Given the description of an element on the screen output the (x, y) to click on. 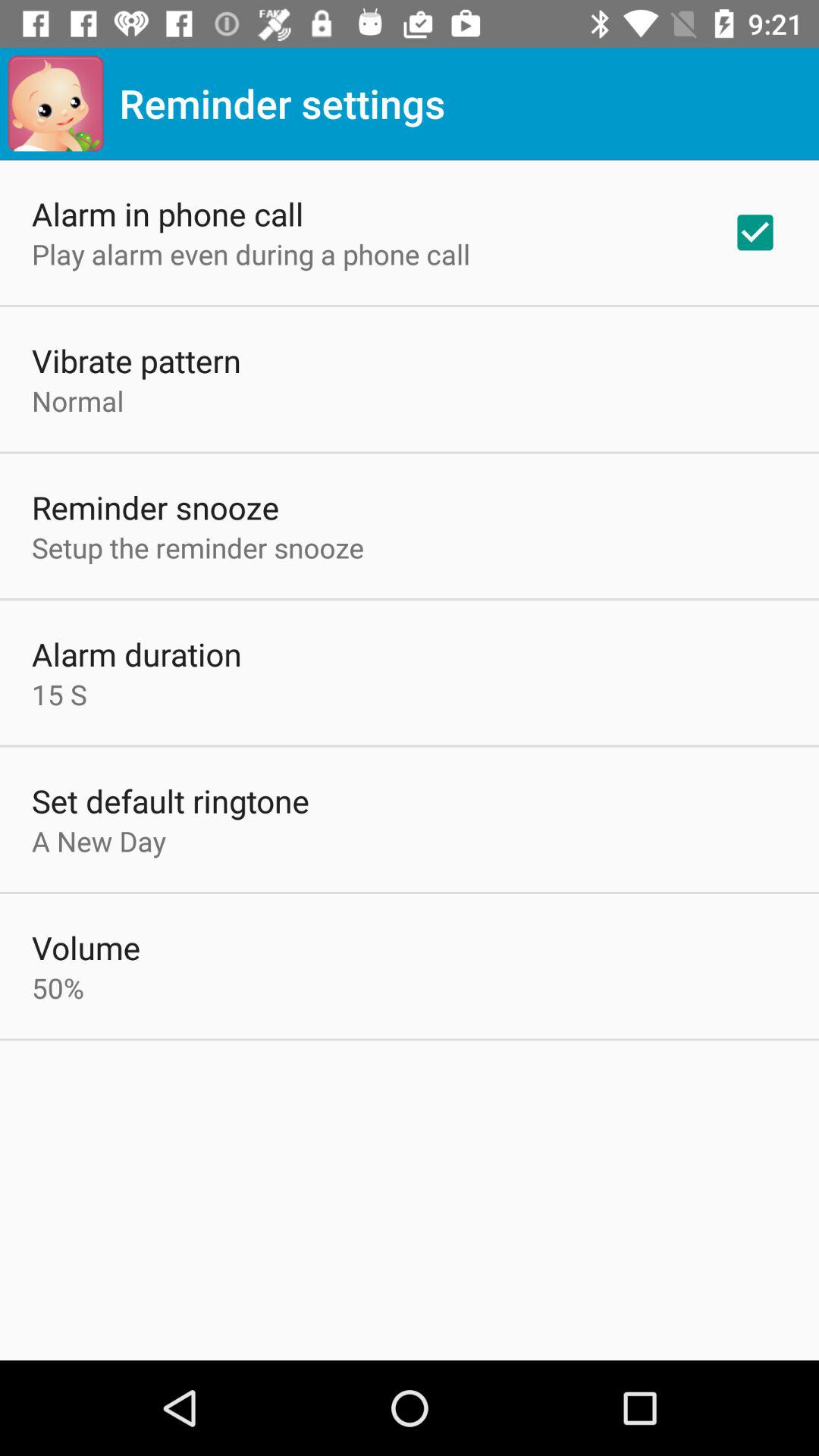
launch app below the setup the reminder item (136, 653)
